Given the description of an element on the screen output the (x, y) to click on. 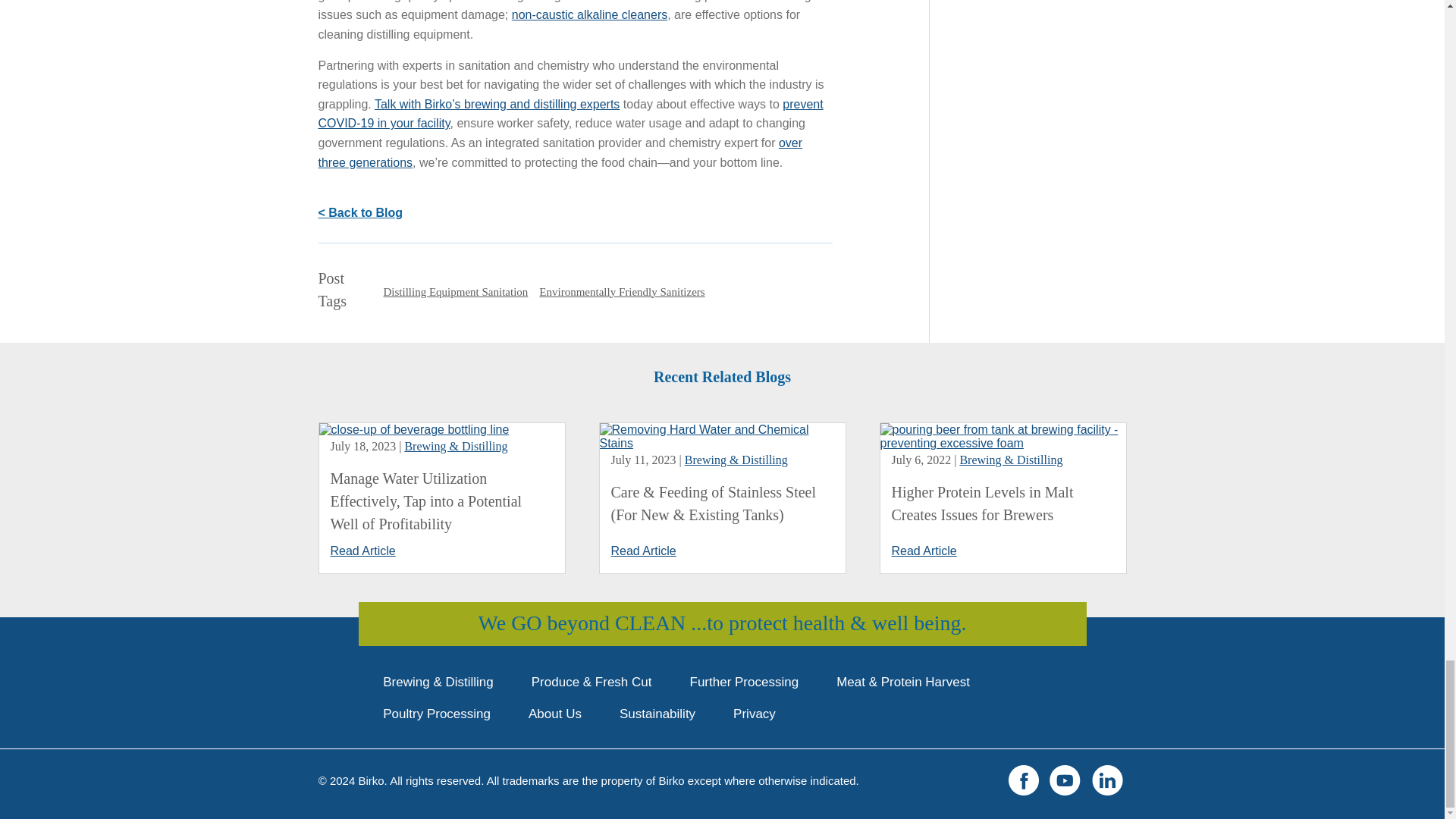
Facebook (1024, 779)
Higher Protein Levels in Malt Creates Issues for Brewers (982, 503)
Higher Protein Levels in Malt Creates Issues for Brewers (1002, 442)
